Given the description of an element on the screen output the (x, y) to click on. 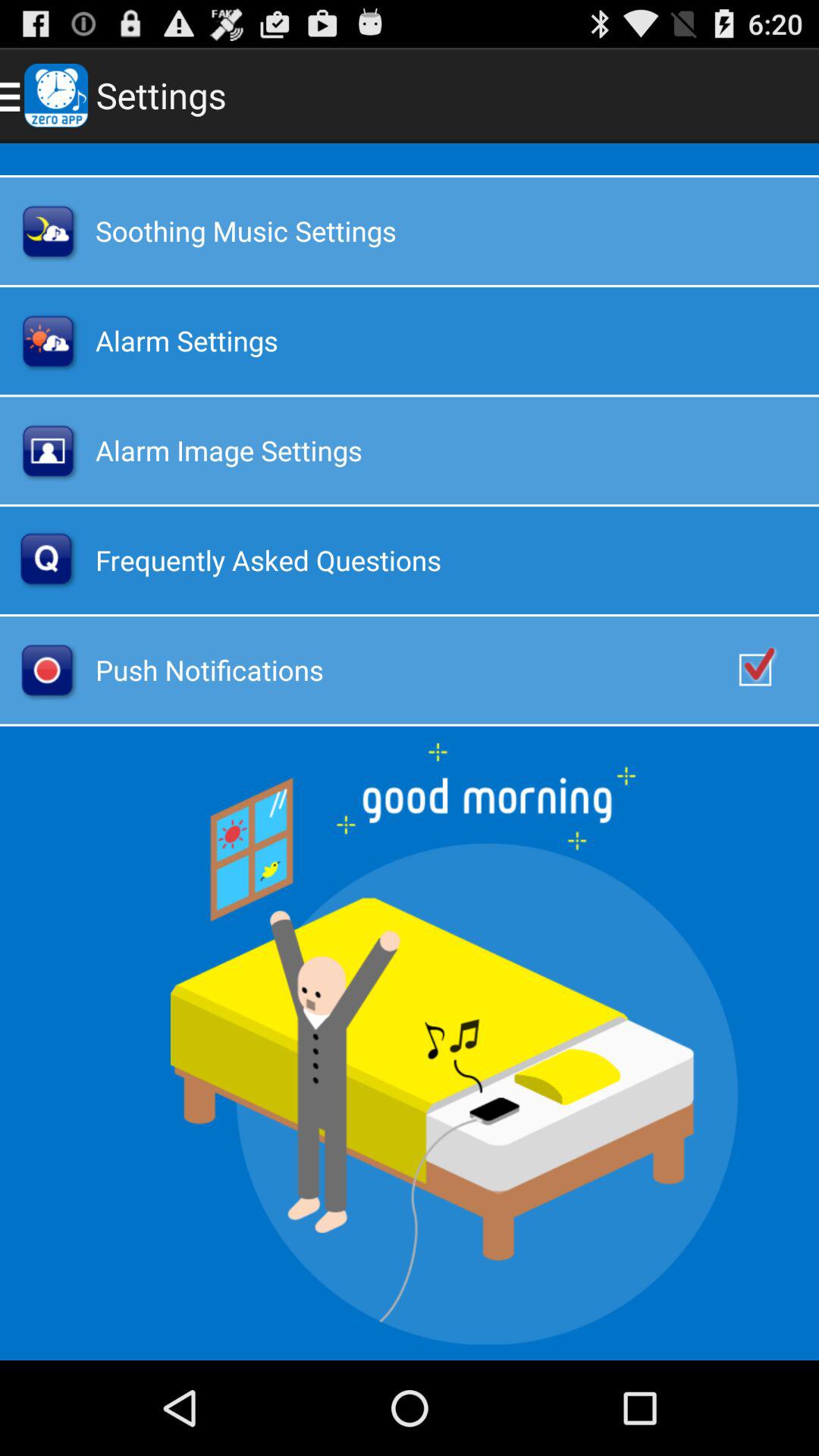
tap the icon next to the push notifications item (771, 670)
